Given the description of an element on the screen output the (x, y) to click on. 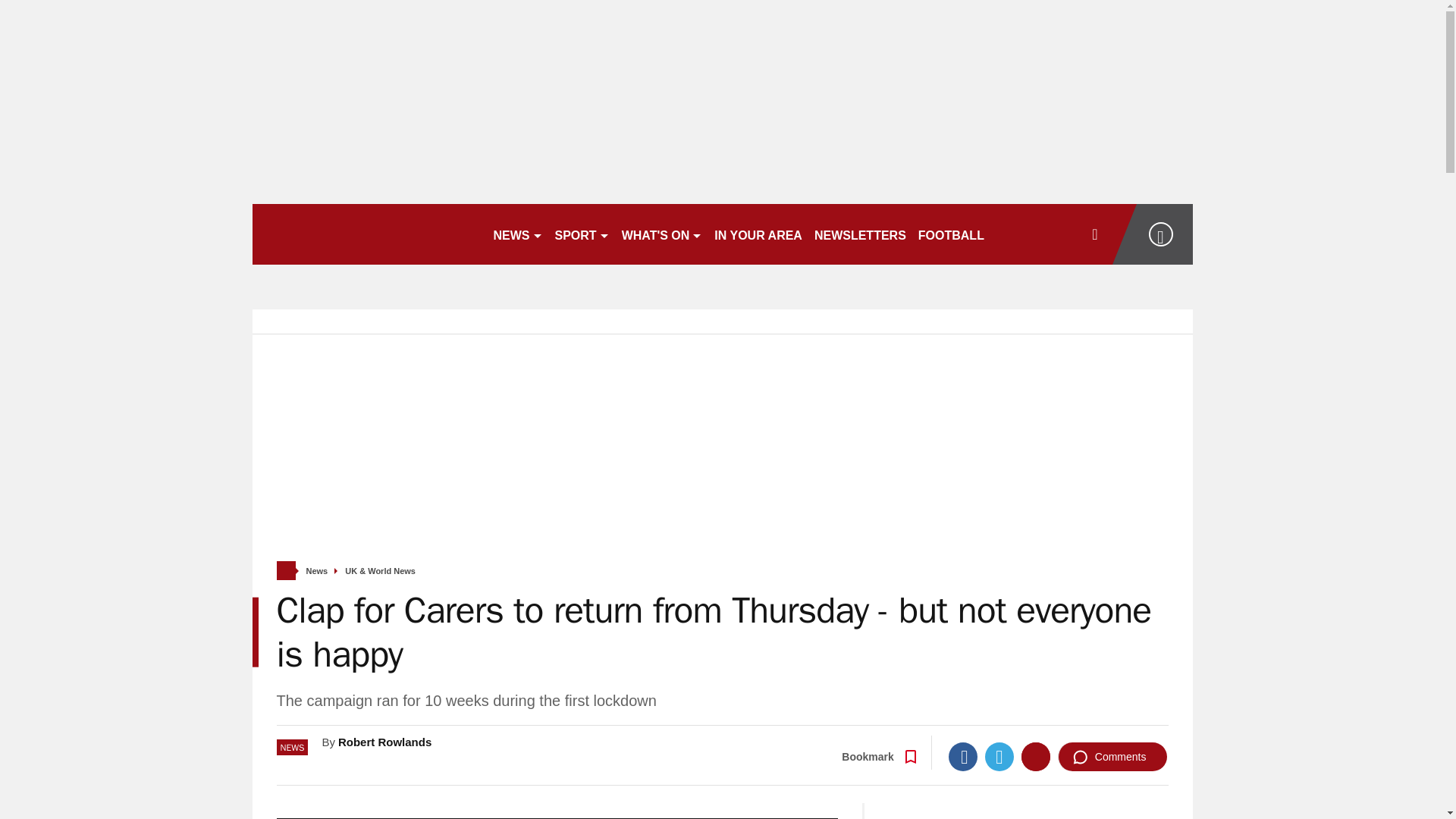
Facebook (962, 756)
RUGBY LEAGUE (1045, 233)
WHAT'S ON (662, 233)
Comments (1112, 756)
SPORT (581, 233)
NEWS (517, 233)
IN YOUR AREA (757, 233)
FOOTBALL (951, 233)
Twitter (999, 756)
NEWSLETTERS (860, 233)
hulldailymail (365, 233)
